Given the description of an element on the screen output the (x, y) to click on. 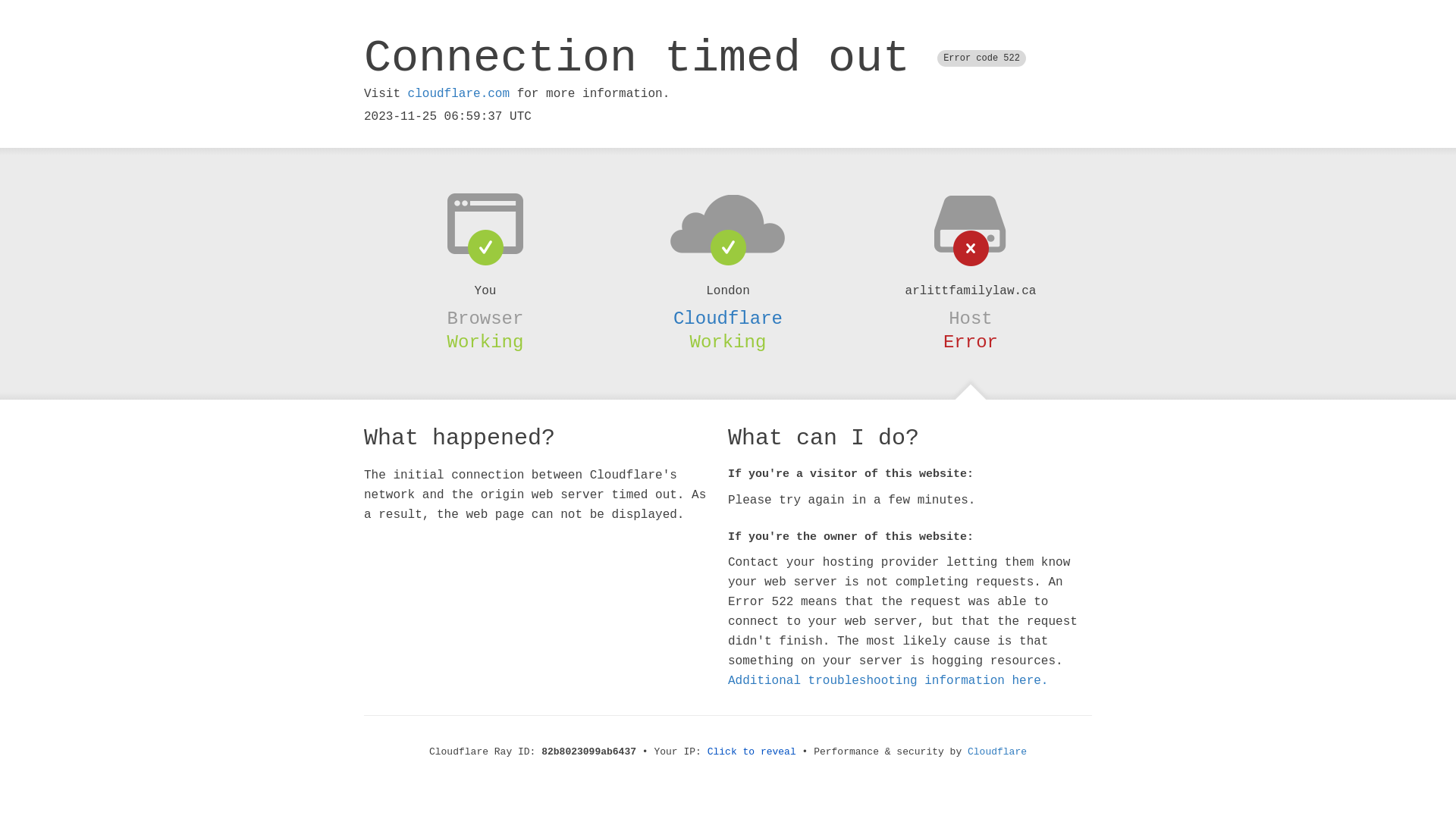
Cloudflare Element type: text (727, 318)
cloudflare.com Element type: text (458, 93)
Click to reveal Element type: text (751, 751)
Cloudflare Element type: text (996, 751)
Additional troubleshooting information here. Element type: text (888, 680)
